Given the description of an element on the screen output the (x, y) to click on. 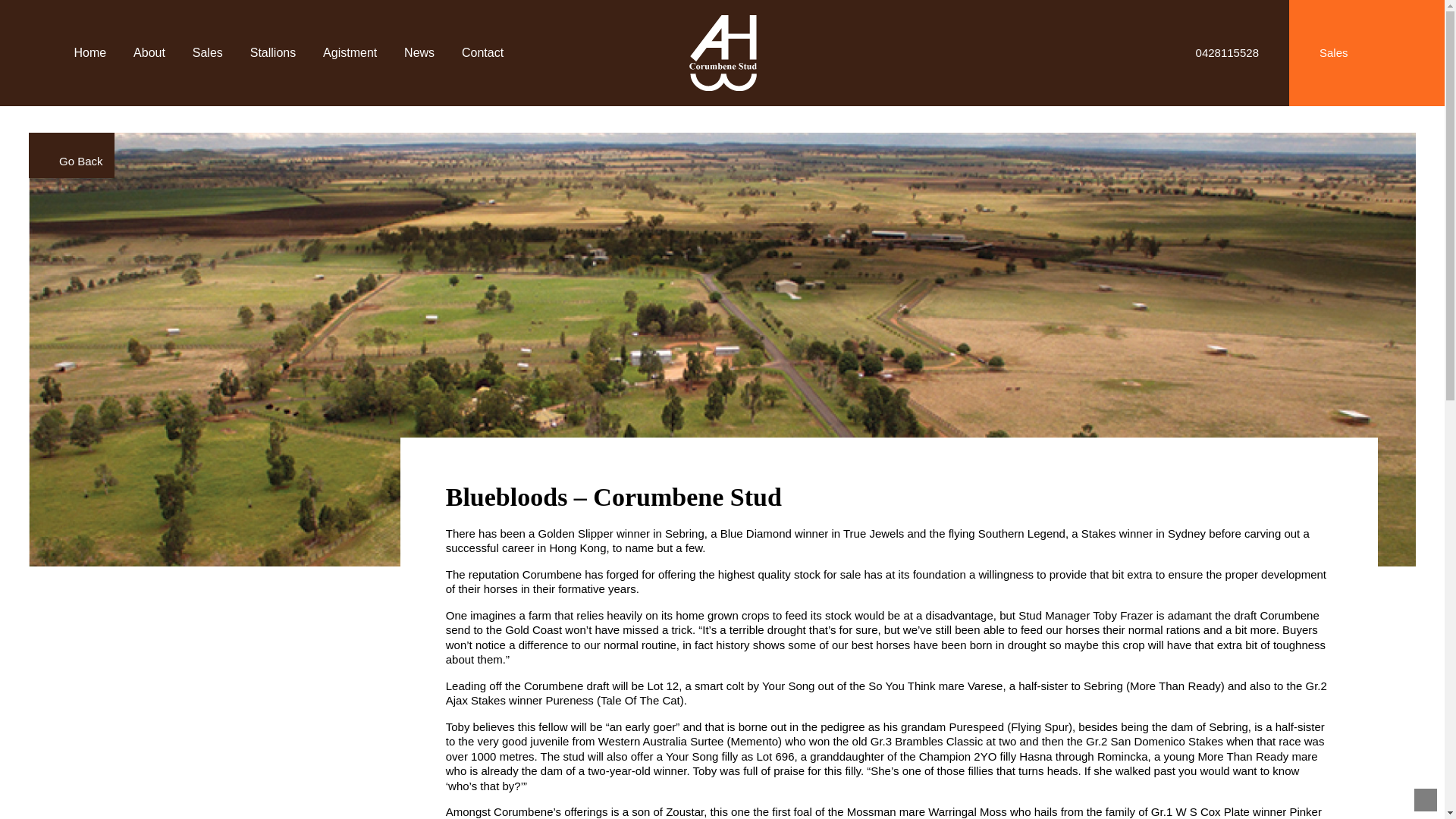
Go Back (72, 155)
0428115528 (1215, 53)
